Given the description of an element on the screen output the (x, y) to click on. 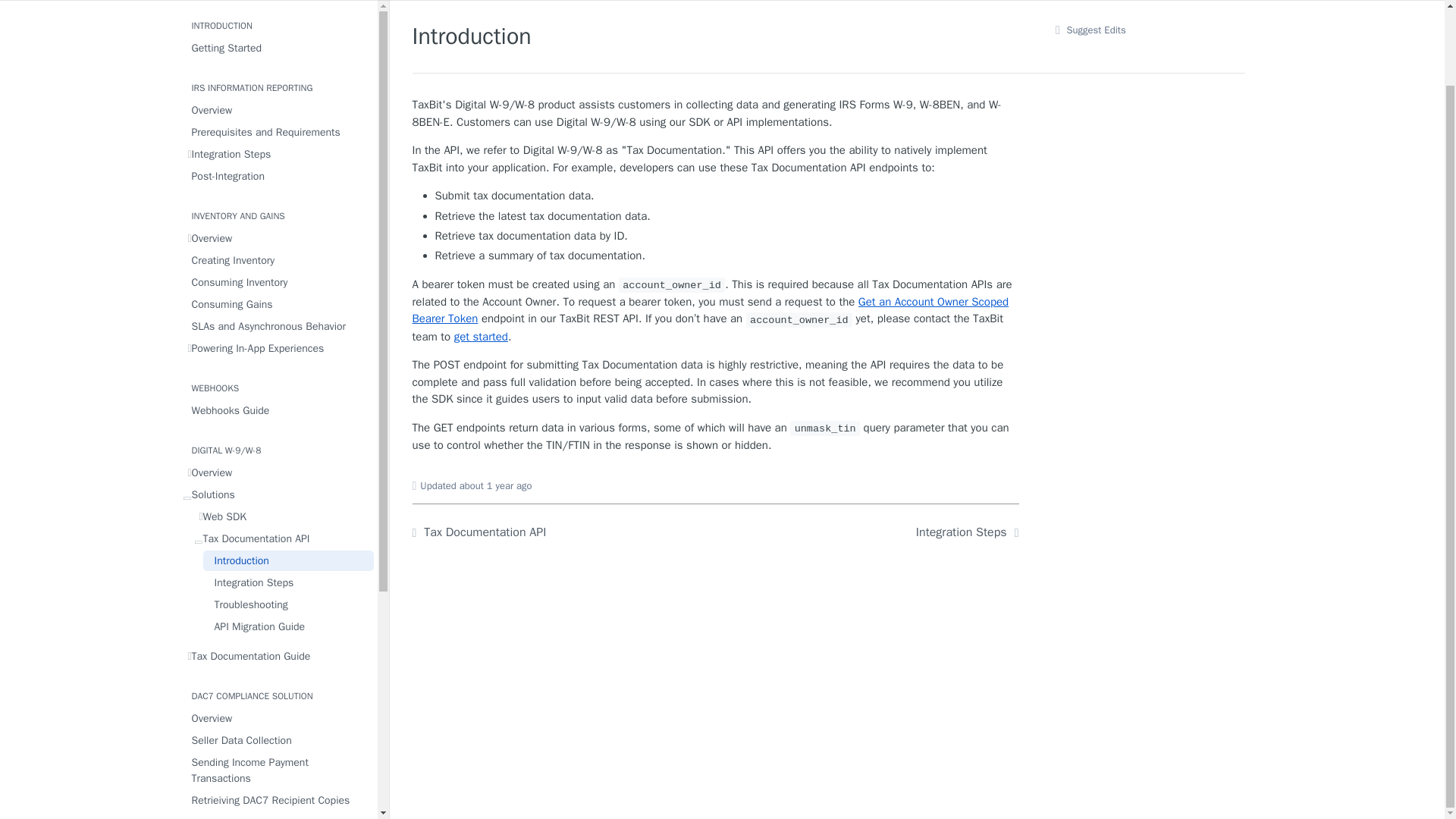
Creating Inventory (277, 260)
SLAs and Asynchronous Behavior (277, 326)
Overview (277, 109)
Consuming Inventory (277, 281)
Powering In-App Experiences (277, 348)
Post-Integration (277, 176)
Prerequisites and Requirements (277, 132)
Consuming Gains (277, 304)
Integration Steps (277, 154)
Getting Started (277, 47)
